Given the description of an element on the screen output the (x, y) to click on. 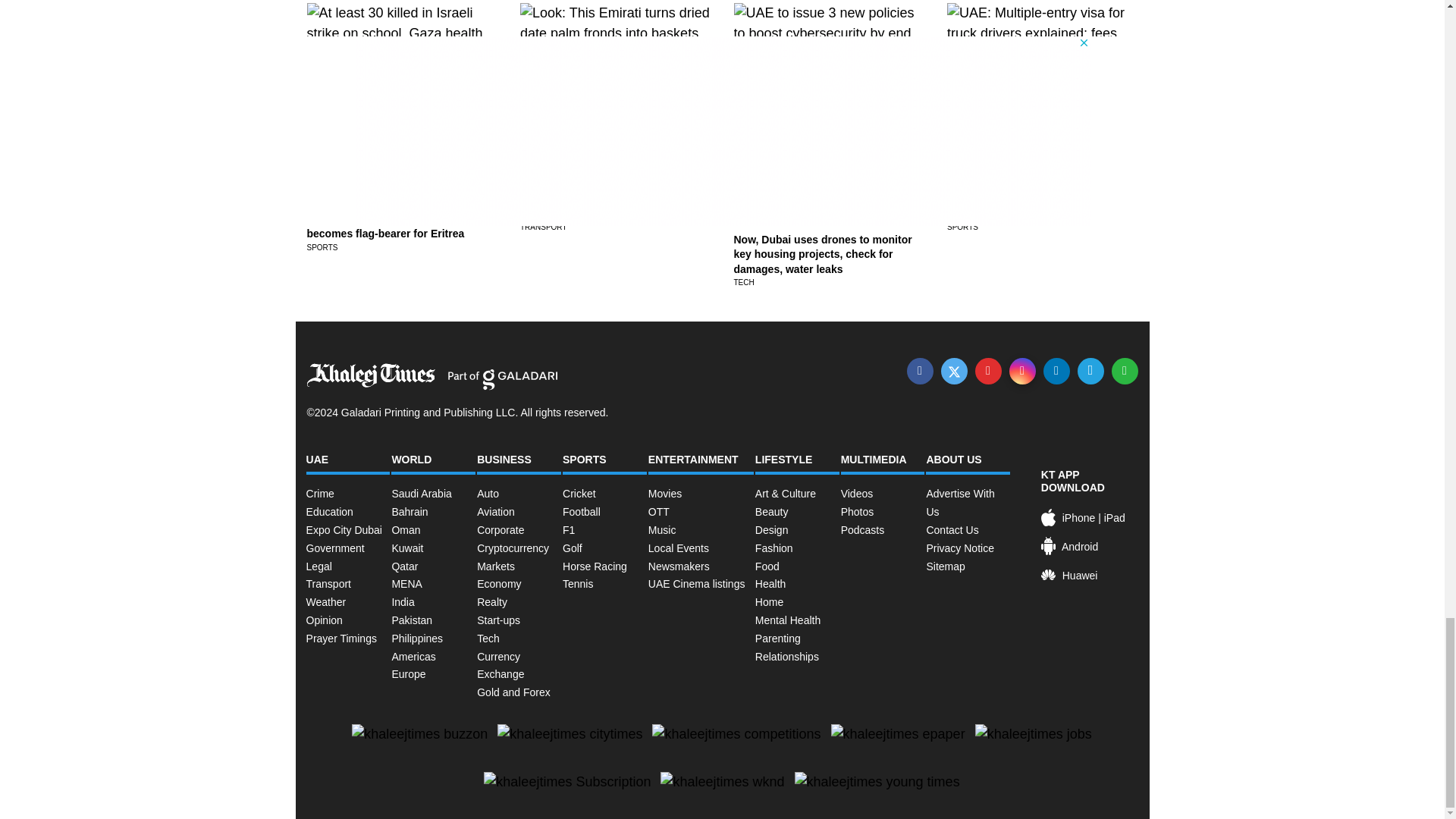
Abu Dhabi announces new paid parking areas from July 29 (600, 206)
China's Huang and Sheng win first gold of Paris Games (1034, 206)
